Given the description of an element on the screen output the (x, y) to click on. 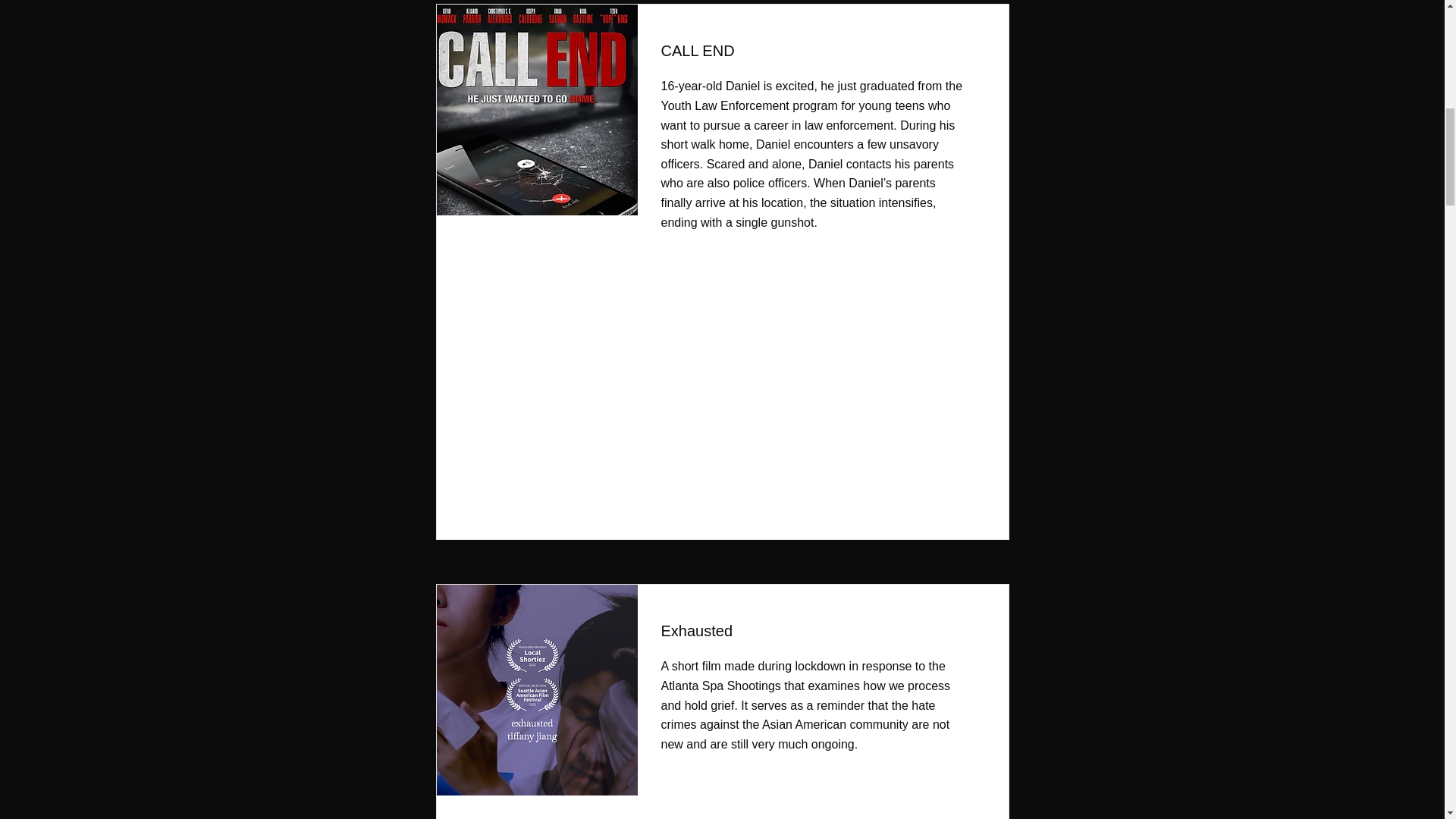
torn poster.png (531, 689)
